Given the description of an element on the screen output the (x, y) to click on. 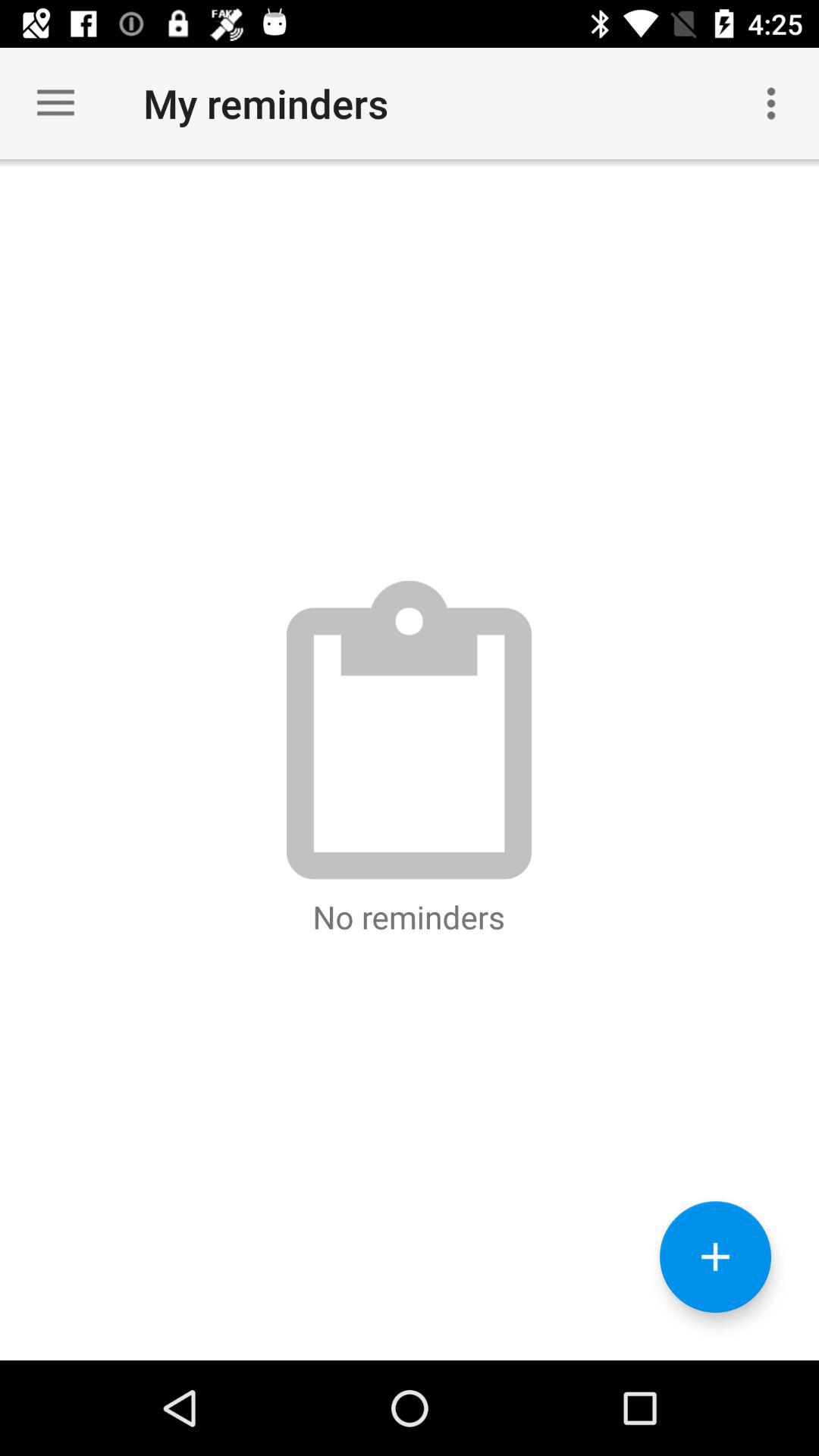
add reminders (715, 1256)
